Given the description of an element on the screen output the (x, y) to click on. 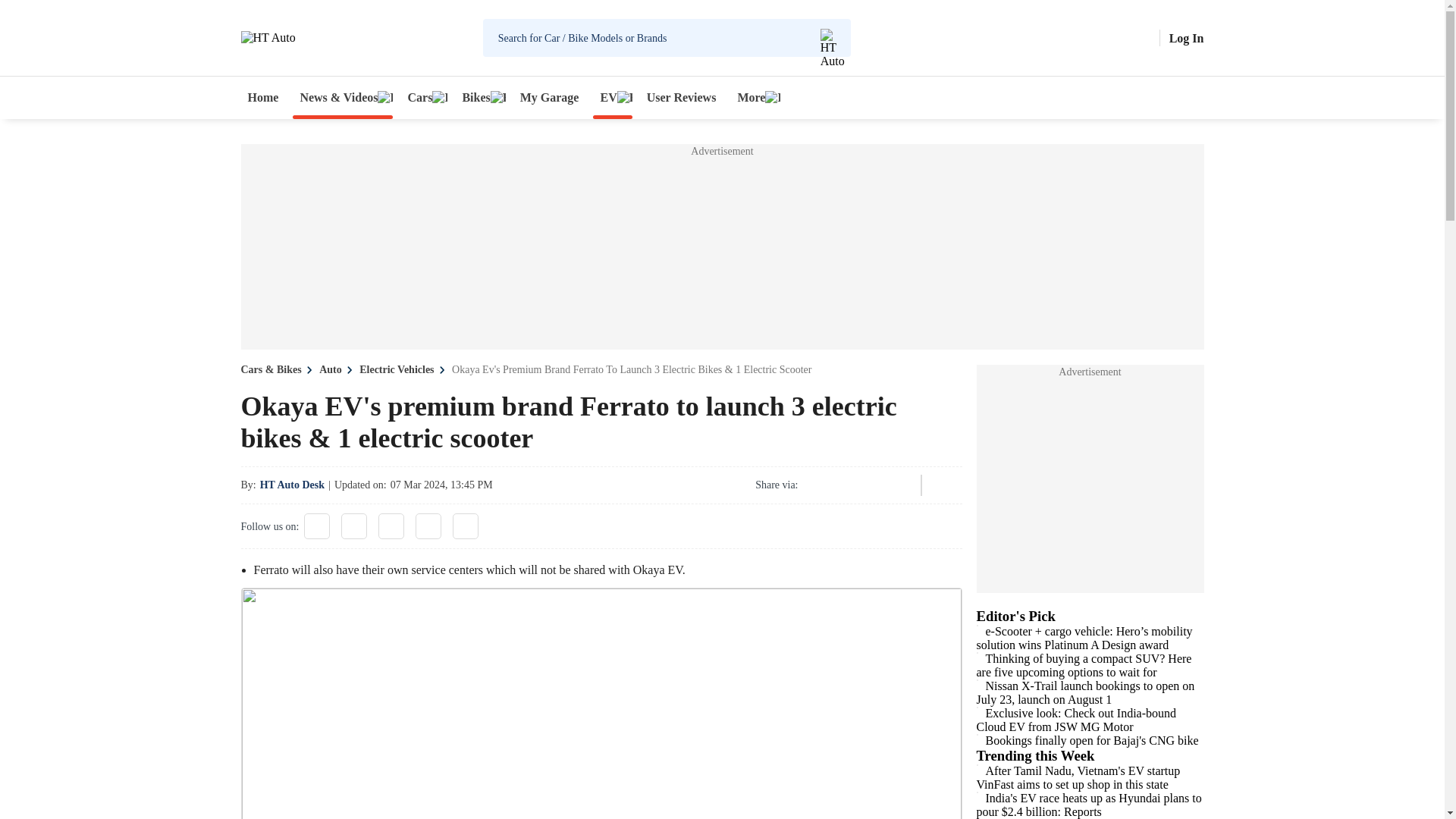
Bikes (479, 97)
Log In (1186, 37)
My Garage (549, 97)
EV (611, 97)
Facebook Share (816, 484)
Cars (423, 97)
Home (263, 97)
Tweet (857, 484)
